Given the description of an element on the screen output the (x, y) to click on. 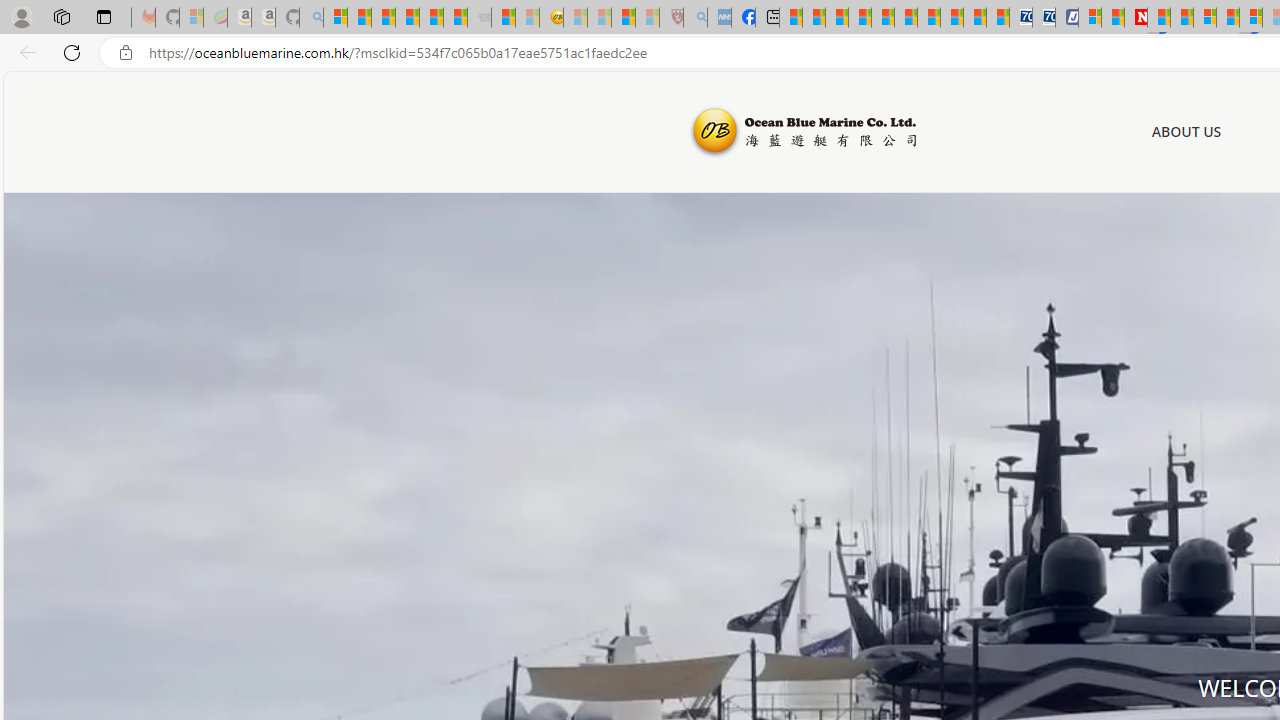
ABOUT US (1186, 132)
